Given the description of an element on the screen output the (x, y) to click on. 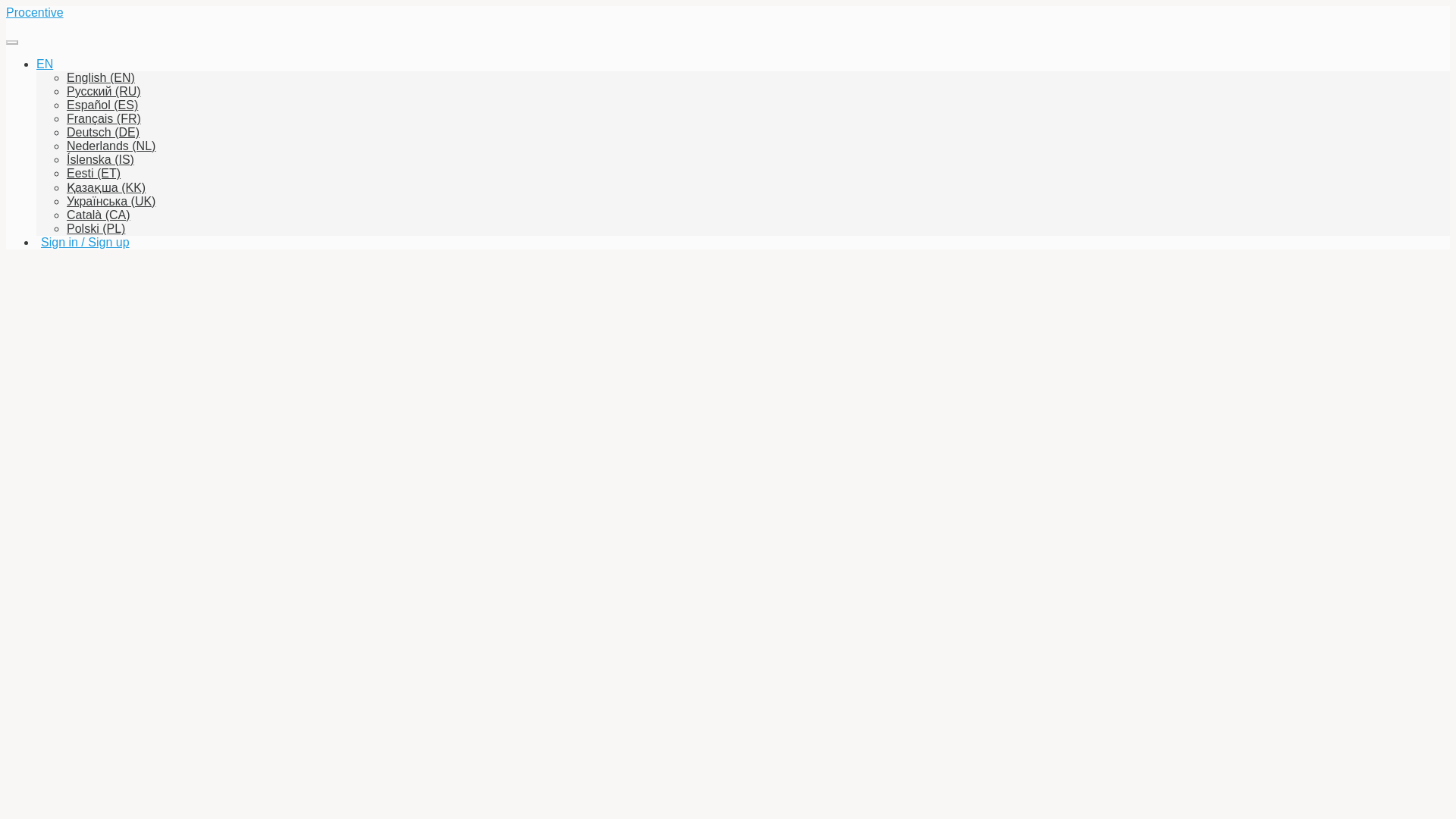
Procentive (34, 11)
EN (44, 63)
